Given the description of an element on the screen output the (x, y) to click on. 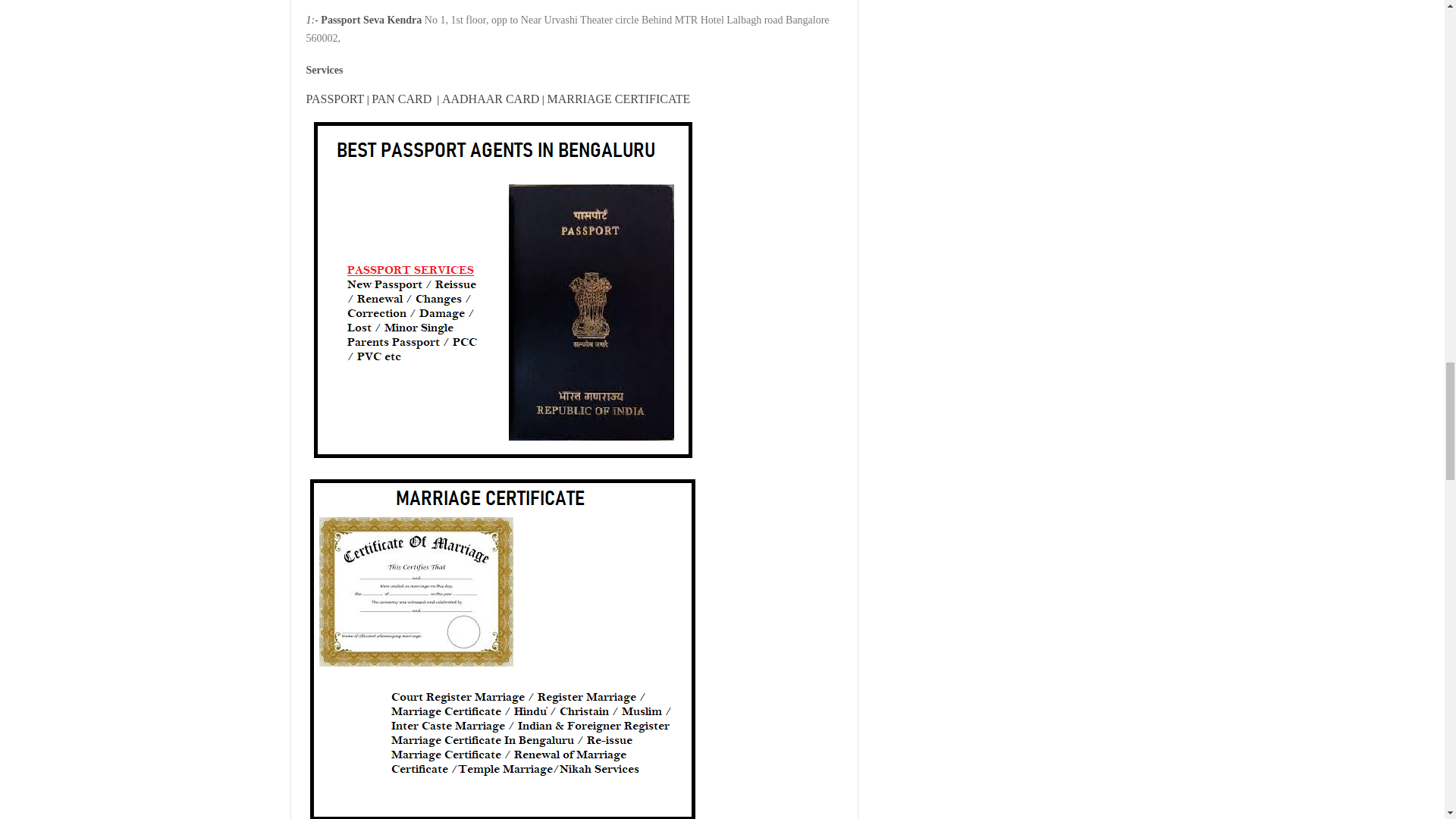
MARRIAGE CERTIFICATE (618, 98)
PASSPORT (335, 98)
AADHAAR CARD (490, 98)
PAN CARD (400, 98)
